Given the description of an element on the screen output the (x, y) to click on. 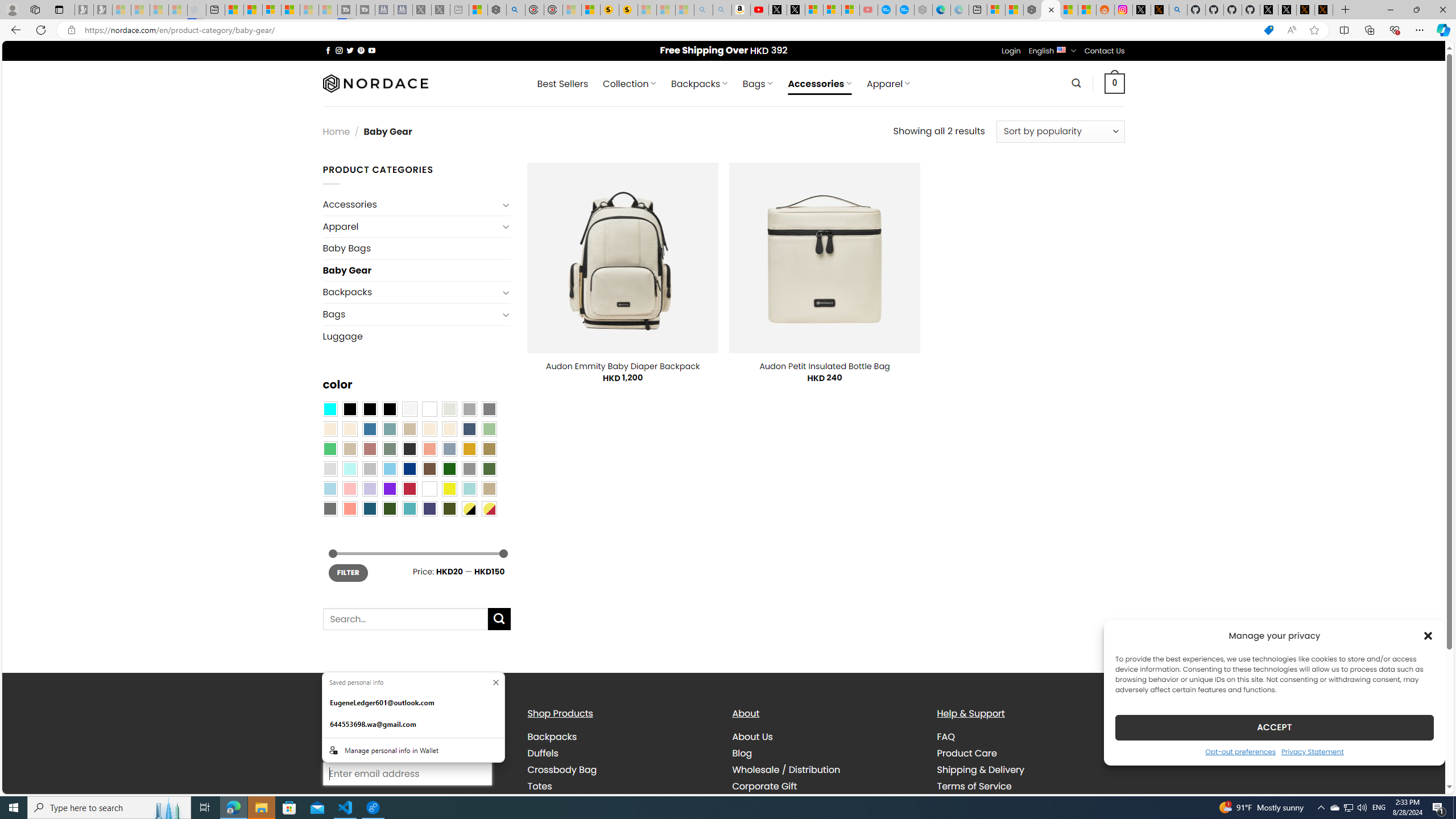
Manage personal info in Wallet (413, 750)
Follow on Twitter (349, 49)
Pink (349, 488)
 Best Sellers (562, 83)
AutomationID: input_4_1 (406, 773)
Blue (369, 428)
